Given the description of an element on the screen output the (x, y) to click on. 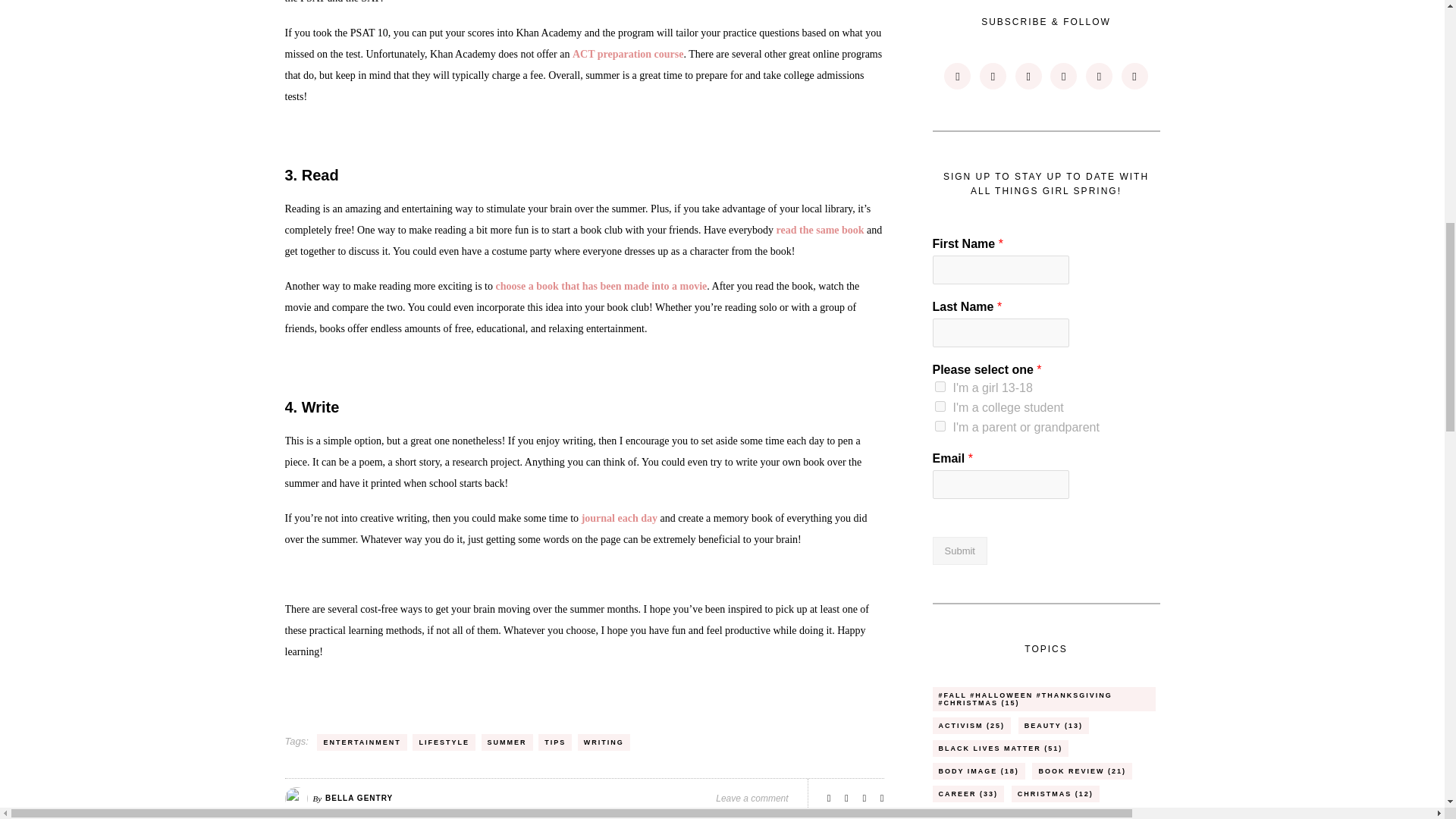
I'm a girl 13-18 (939, 386)
Posts by Bella Gentry (358, 797)
I'm a college student  (939, 406)
I'm a parent or grandparent (939, 425)
